Given the description of an element on the screen output the (x, y) to click on. 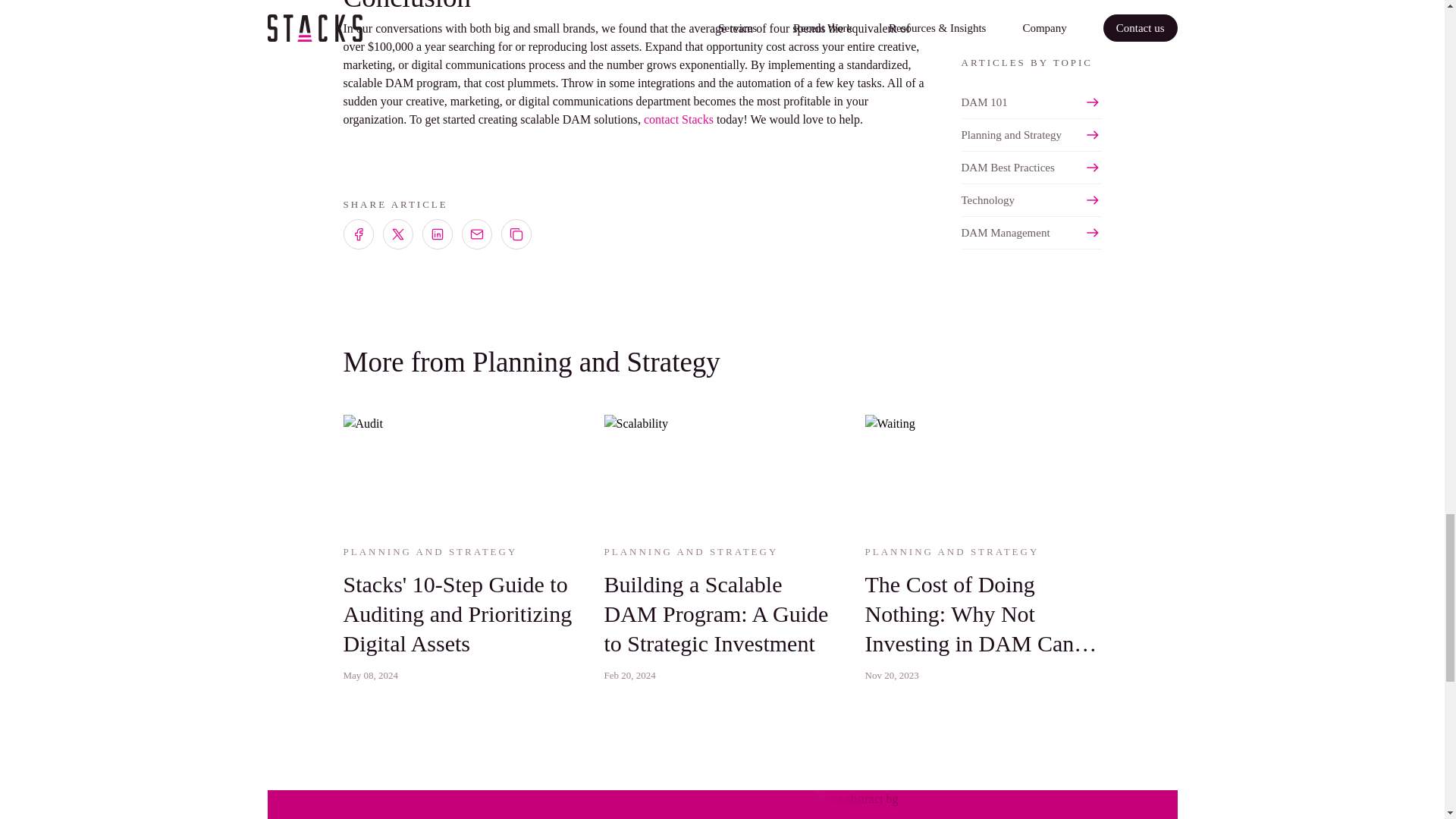
Icon-socials-brand-x (397, 233)
Copy link to clipboard (515, 234)
Icon-socials-mail (475, 233)
Icon-socials-brand-facebook (357, 233)
Icon-socials-brand-linkedin (436, 233)
Icon-utility-actions-copy (515, 233)
